Given the description of an element on the screen output the (x, y) to click on. 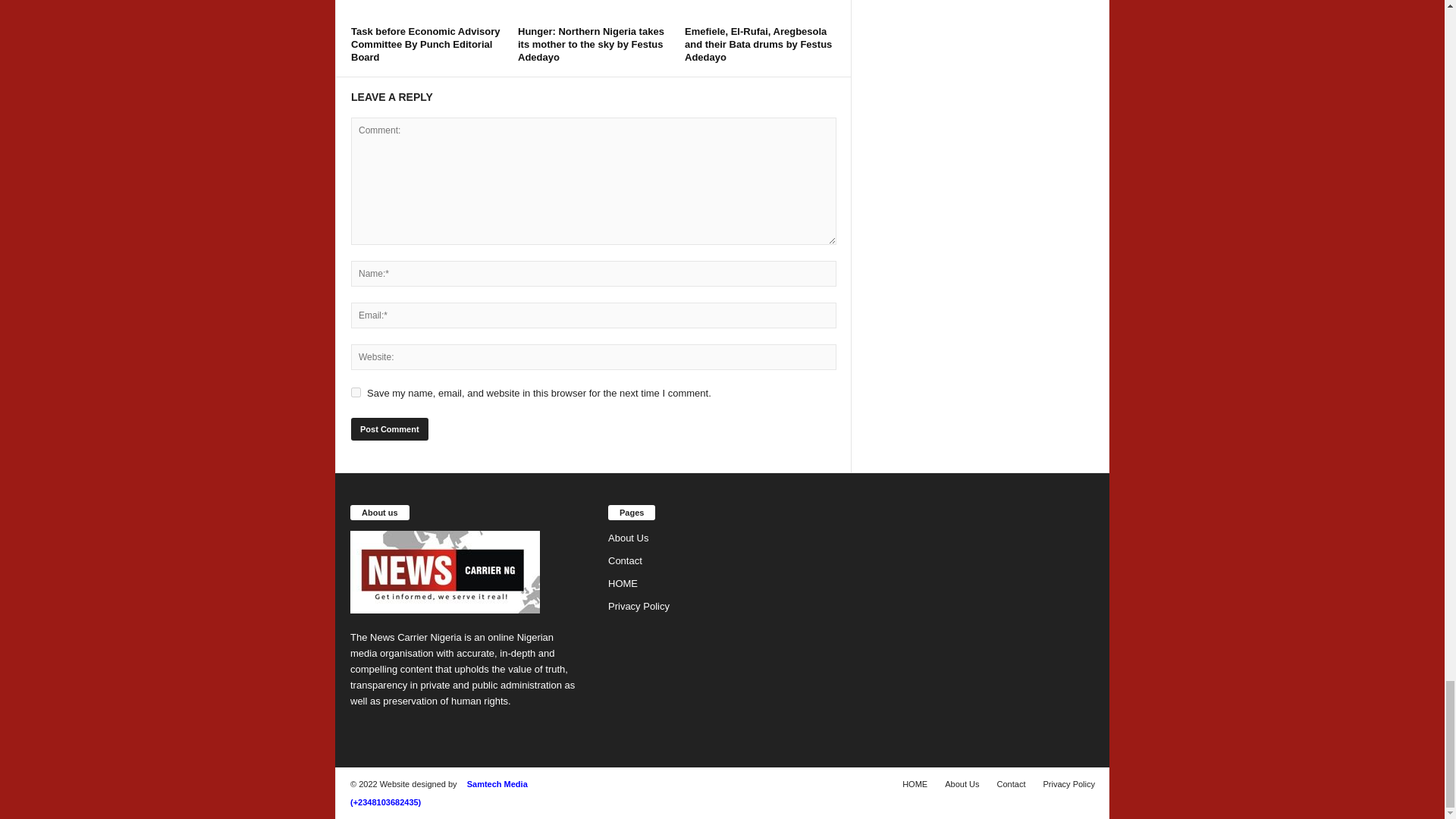
Post Comment (389, 428)
yes (355, 392)
